Given the description of an element on the screen output the (x, y) to click on. 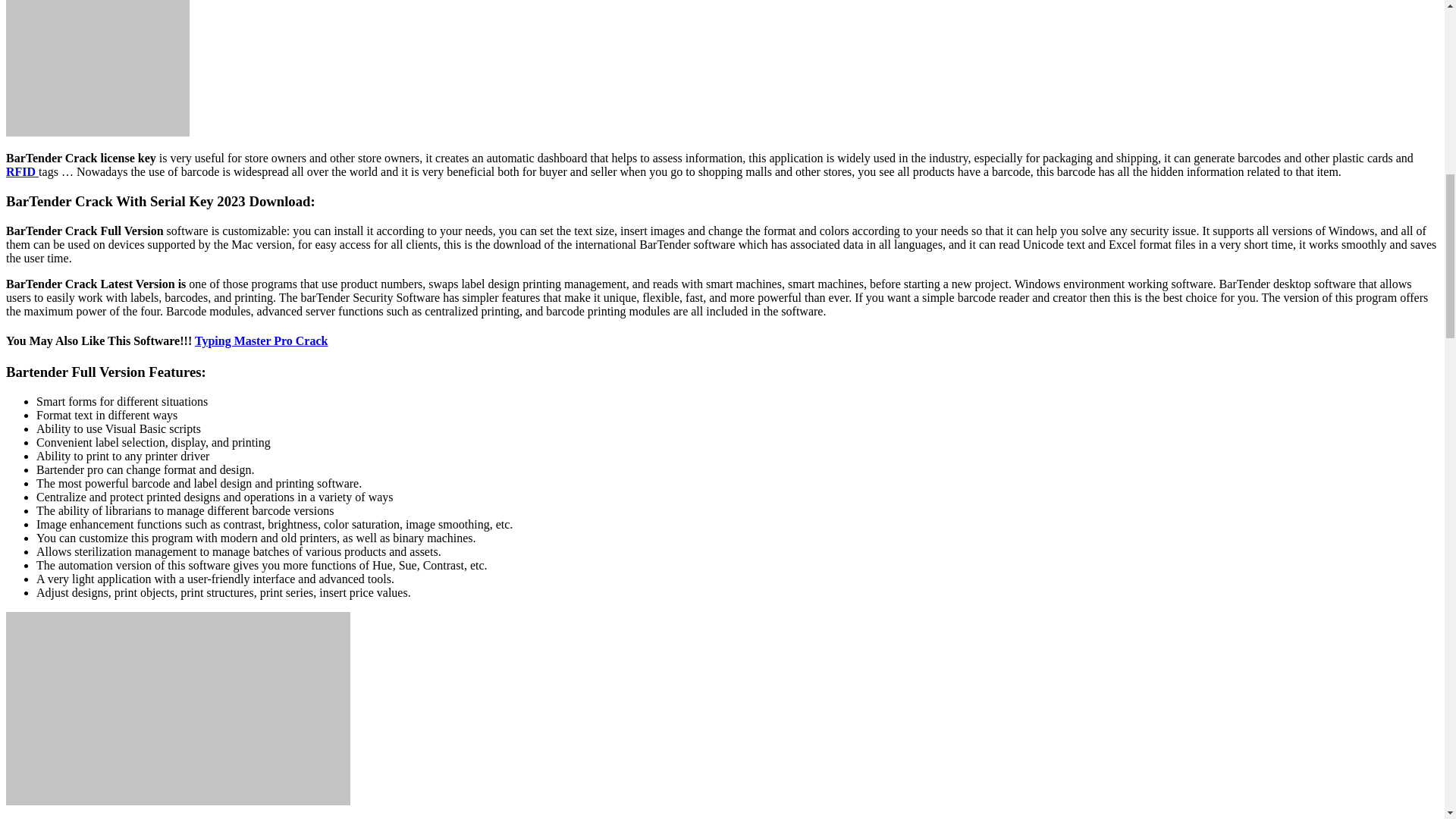
RFID (22, 171)
Typing Master Pro Crack (262, 340)
Bartender Crack 11.5.6 With Activation Key Free Download  (97, 68)
Bartender Crack 11.5.6 With Activation Key Free Download (177, 708)
